Given the description of an element on the screen output the (x, y) to click on. 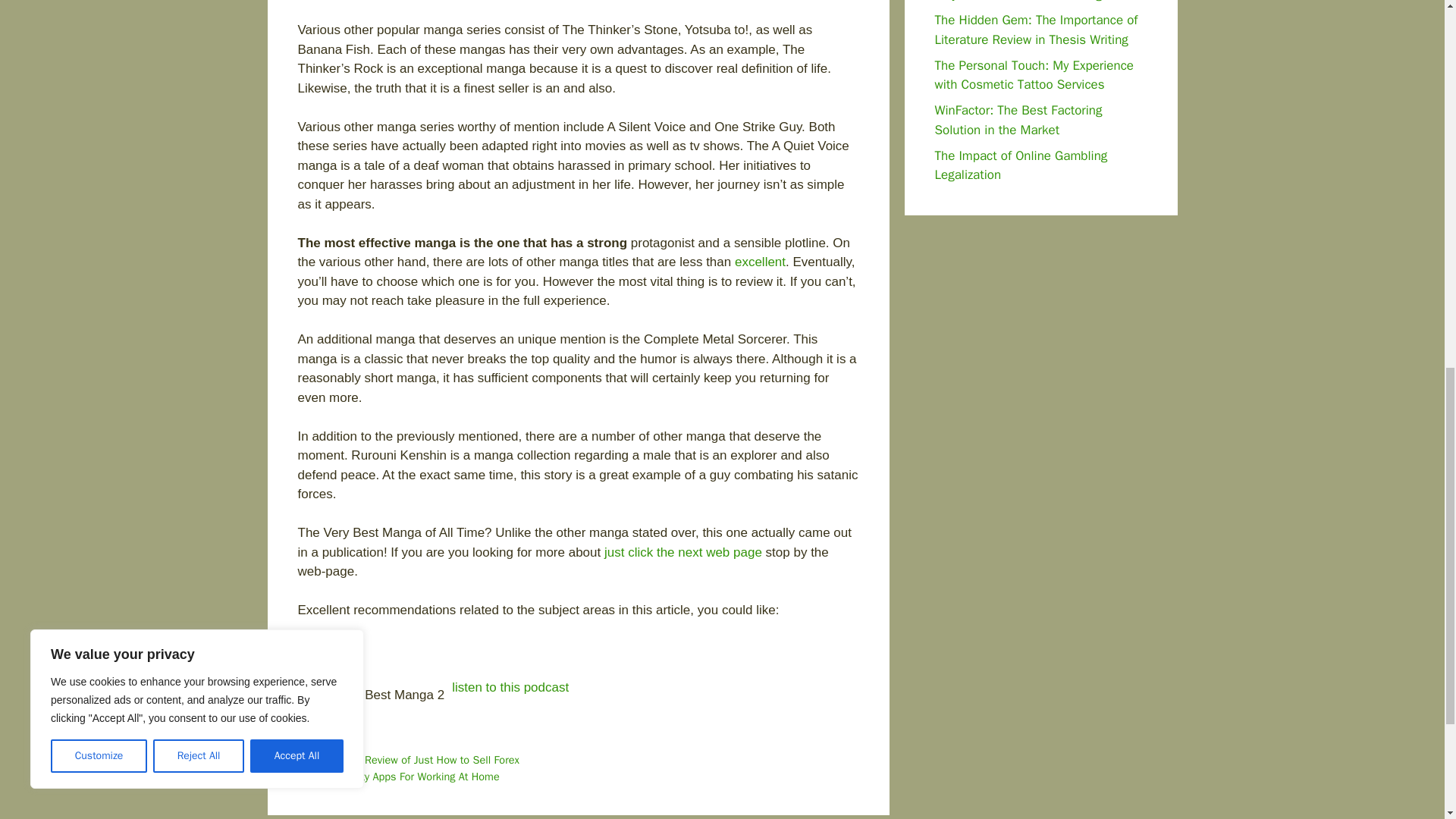
General (333, 726)
See more (325, 648)
Productivity Apps For Working At Home (407, 775)
just click the next web page (682, 552)
Activities (336, 743)
excellent (760, 261)
listen to this podcast (510, 687)
A General Review of Just How to Sell Forex (417, 759)
